Given the description of an element on the screen output the (x, y) to click on. 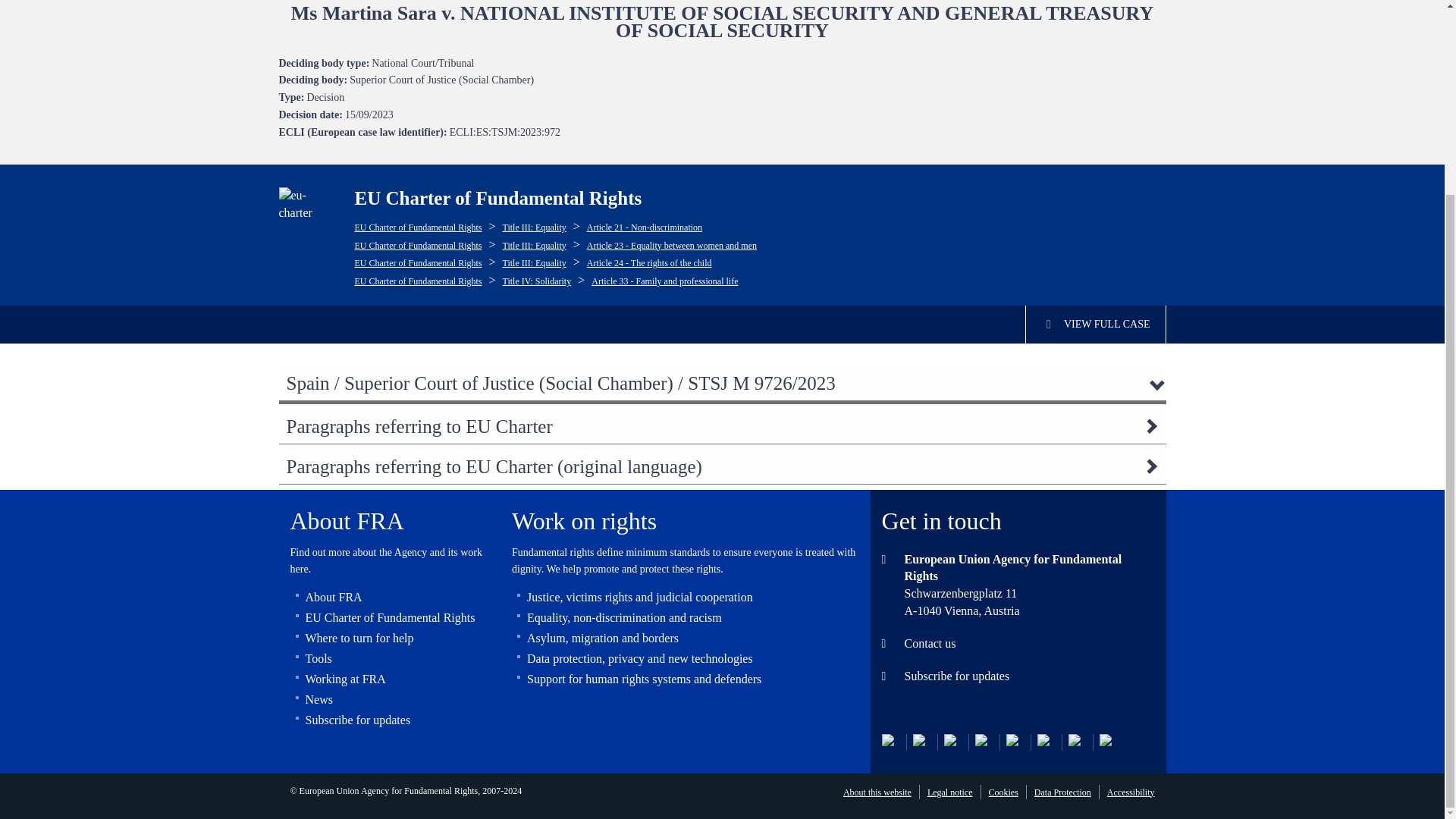
FRA's Facebook channel (983, 742)
FRA's Twitter channel (890, 742)
FRA's LinkedIn channel (921, 742)
FRA's YouTube channel (1015, 742)
FRA's Instagram channel (952, 742)
Subscribe to FRA's newsletter (1045, 742)
